Given the description of an element on the screen output the (x, y) to click on. 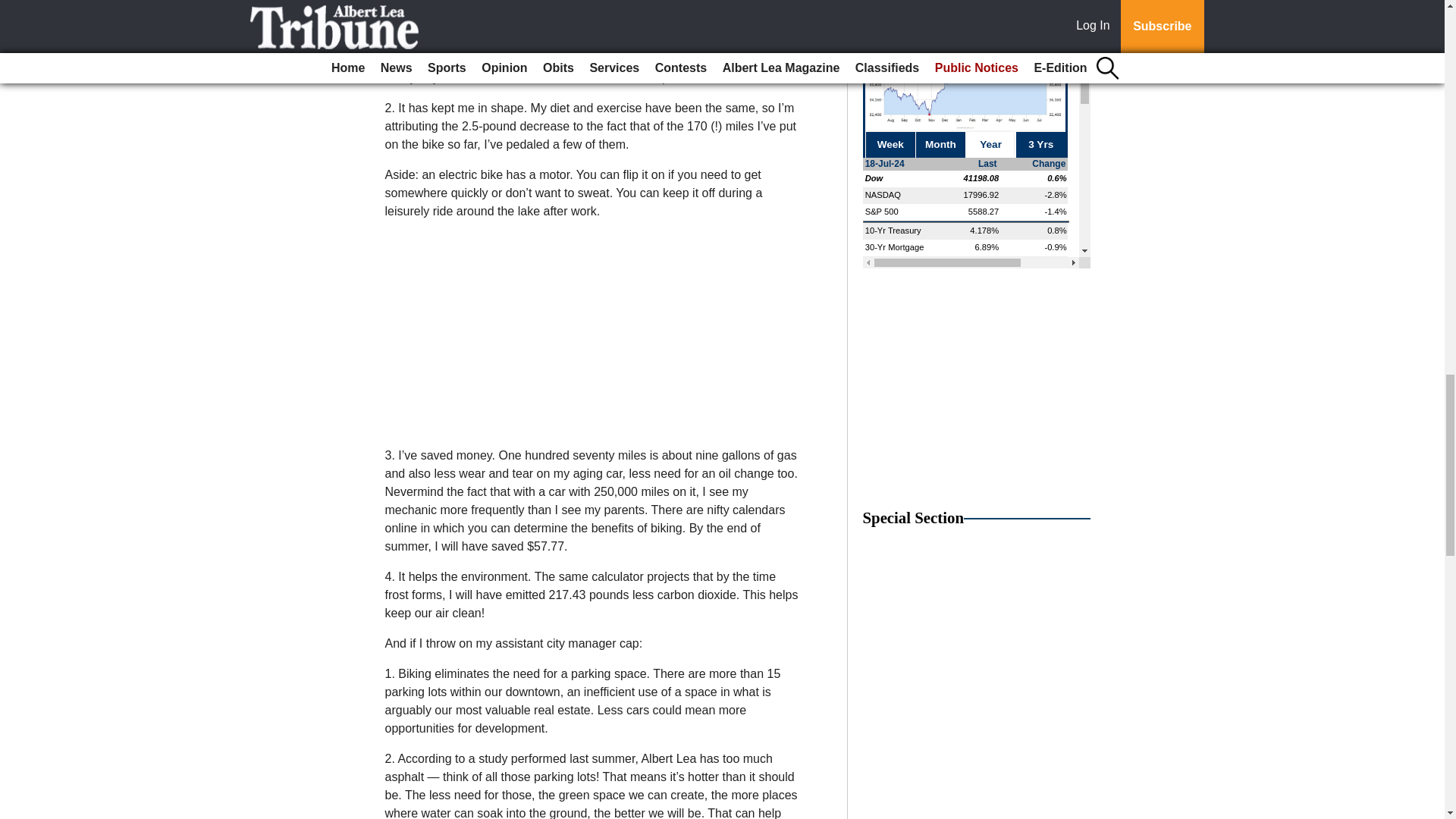
US Market Update (976, 134)
